Given the description of an element on the screen output the (x, y) to click on. 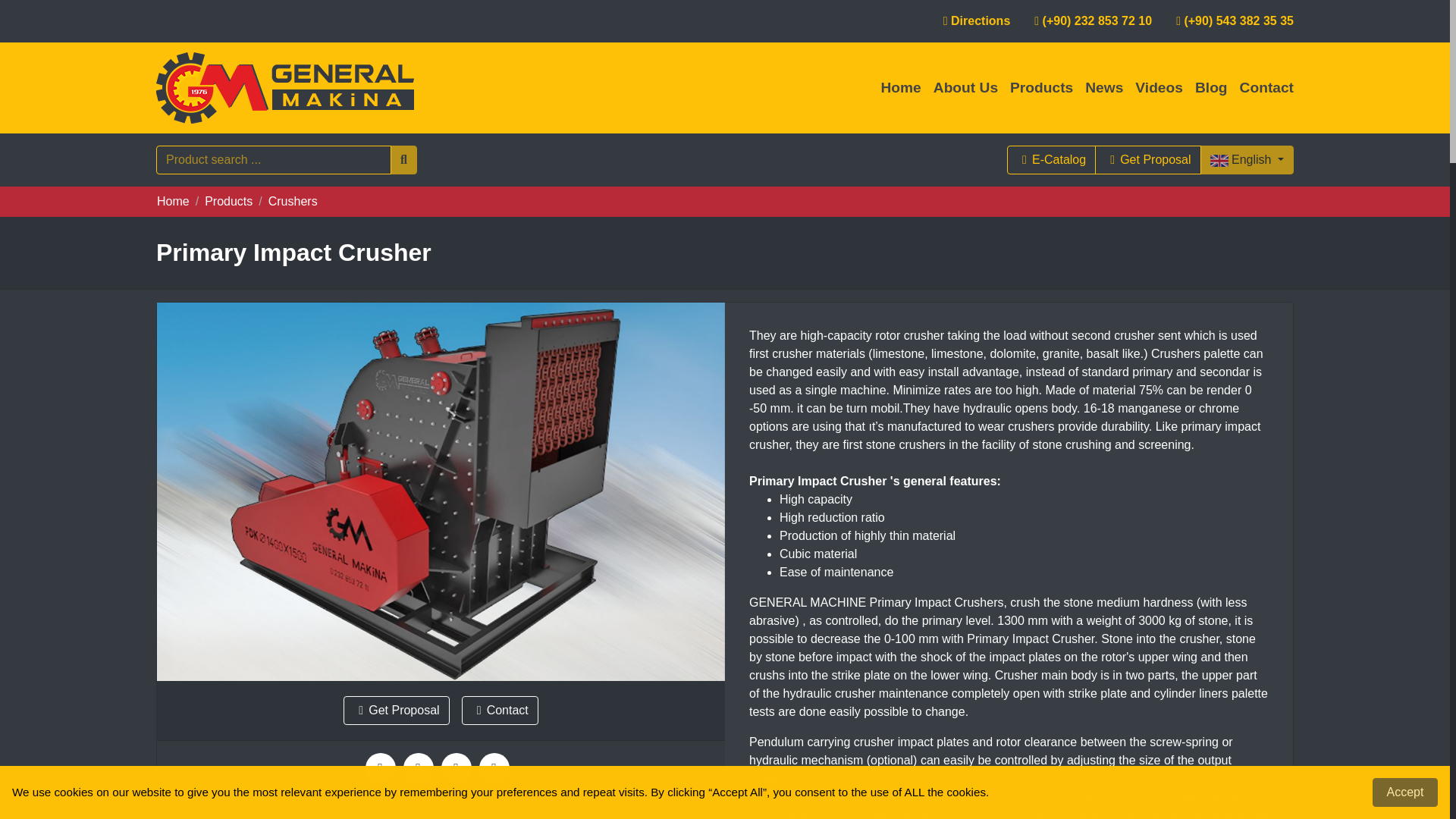
Products (228, 201)
Contact (1263, 88)
Videos (1159, 88)
About Us (965, 88)
Home (900, 88)
E-Catalog (1051, 159)
About Us (965, 88)
Get Proposal (1146, 159)
English (1246, 159)
GENERAL MAKINA (284, 87)
